Given the description of an element on the screen output the (x, y) to click on. 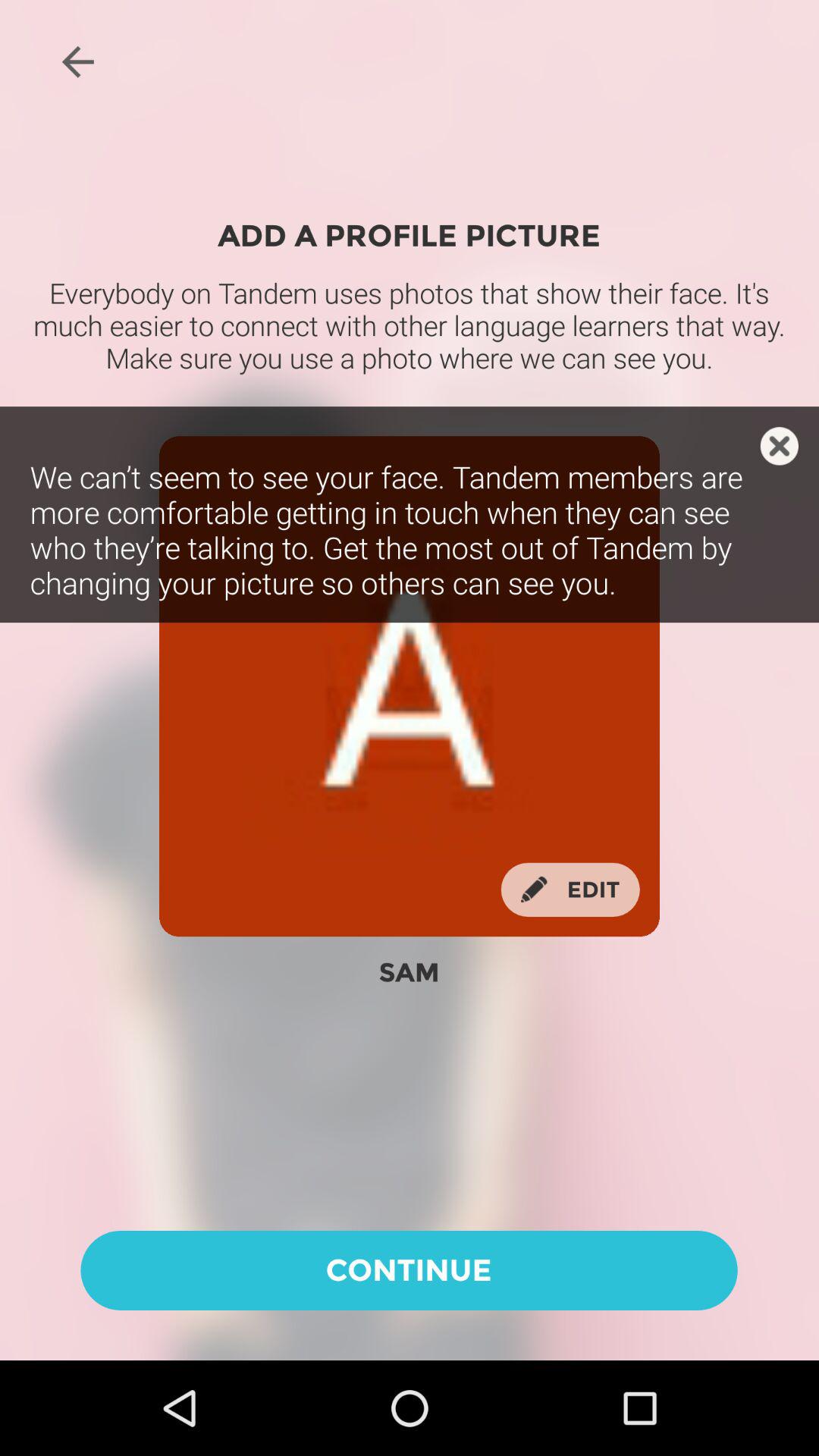
tap the continue item (408, 1270)
